Given the description of an element on the screen output the (x, y) to click on. 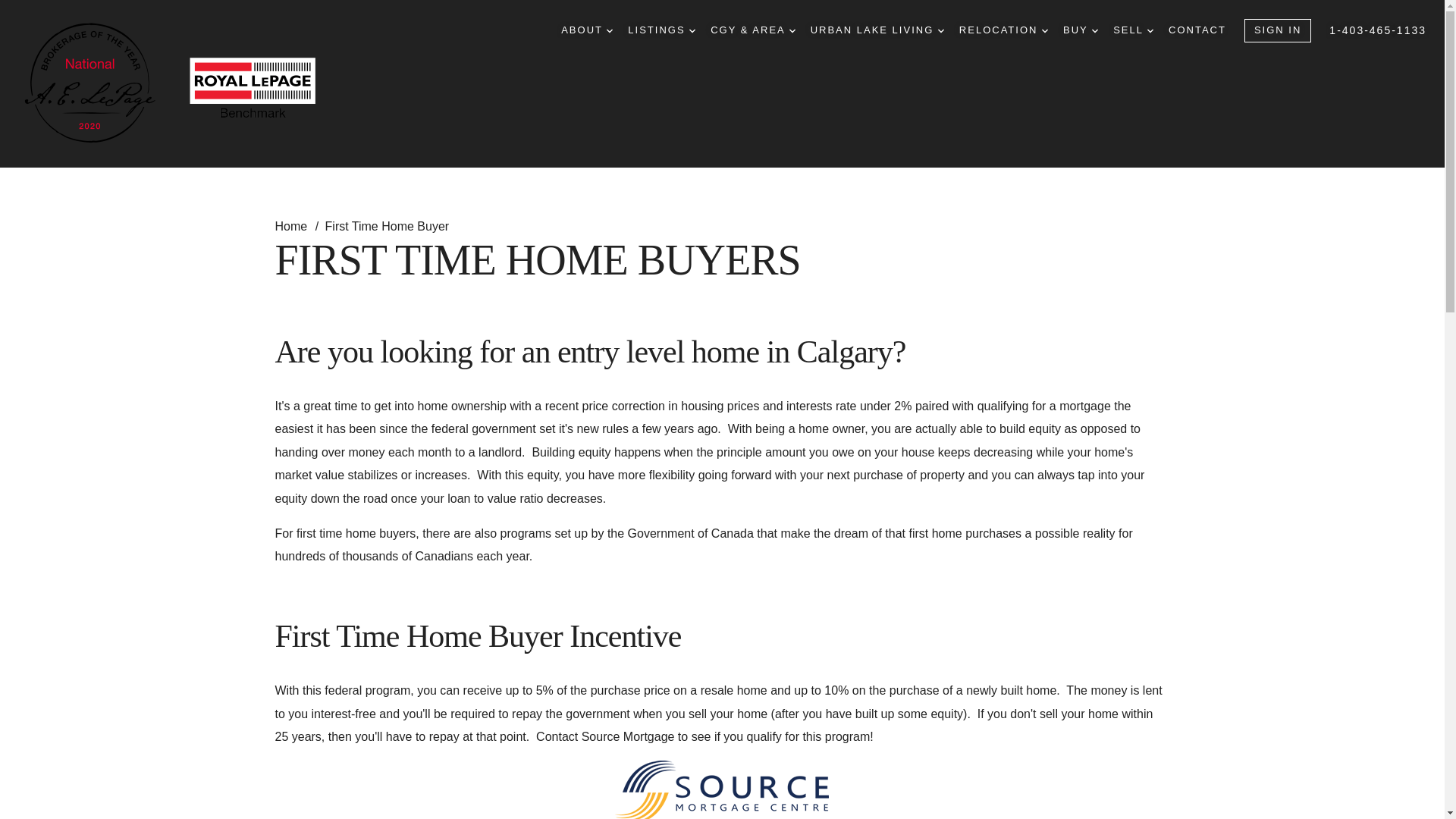
DROPDOWN ARROW (1045, 30)
DROPDOWN ARROW (791, 30)
URBAN LAKE LIVING DROPDOWN ARROW (876, 30)
DROPDOWN ARROW (691, 30)
DROPDOWN ARROW (940, 30)
LISTINGS DROPDOWN ARROW (661, 30)
DROPDOWN ARROW (1094, 30)
DROPDOWN ARROW (609, 30)
ABOUT DROPDOWN ARROW (586, 30)
DROPDOWN ARROW (1150, 30)
